Given the description of an element on the screen output the (x, y) to click on. 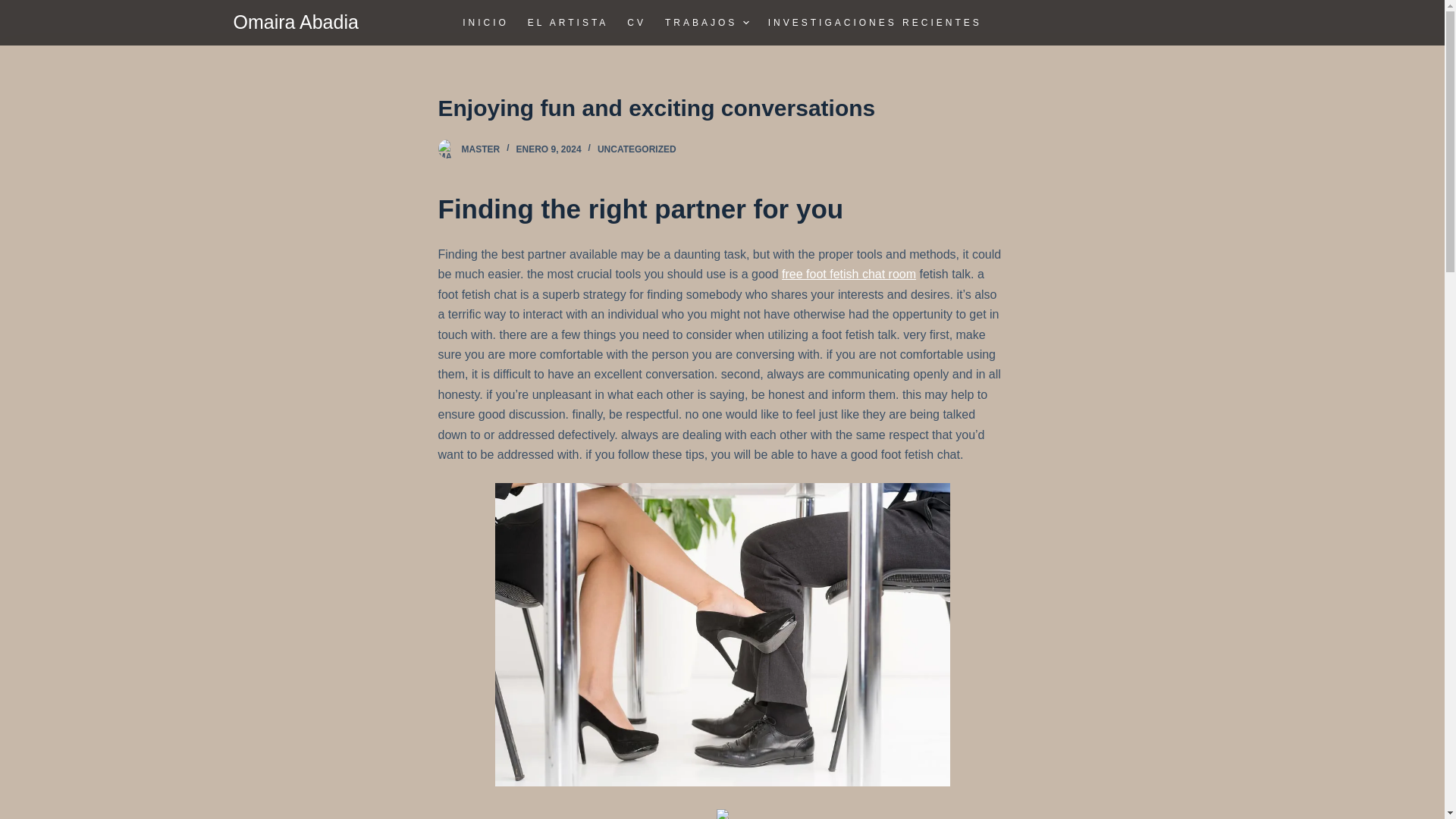
free foot fetish chat room (848, 273)
Entradas de Master (480, 149)
Enjoying fun and exciting conversations (722, 107)
MASTER (480, 149)
UNCATEGORIZED (636, 149)
Omaira Abadia (295, 21)
EL ARTISTA (567, 22)
TRABAJOS (706, 22)
INVESTIGACIONES RECIENTES (869, 22)
Saltar al contenido (15, 7)
